Given the description of an element on the screen output the (x, y) to click on. 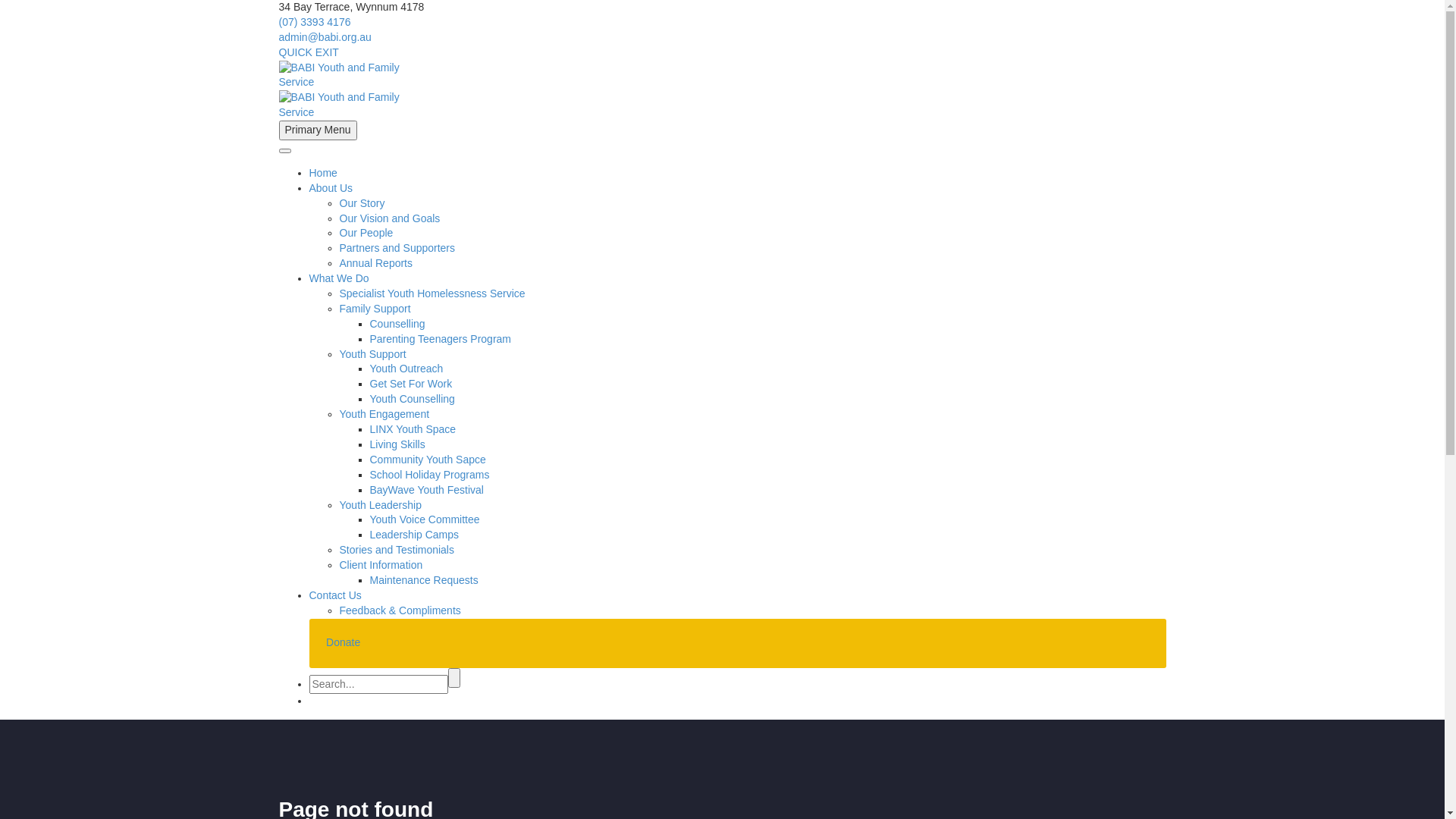
Family Support Element type: text (375, 308)
admin@babi.org.au Element type: text (325, 37)
Specialist Youth Homelessness Service Element type: text (432, 293)
Youth Counselling Element type: text (412, 398)
Annual Reports Element type: text (376, 263)
Donate Element type: text (343, 642)
Youth Support Element type: text (372, 354)
Partners and Supporters Element type: text (397, 247)
QUICK EXIT Element type: text (308, 52)
Maintenance Requests Element type: text (424, 580)
Youth Leadership Element type: text (380, 504)
Counselling Element type: text (397, 323)
Contact Us Element type: text (335, 595)
Home Element type: text (323, 172)
Our Vision and Goals Element type: text (389, 218)
School Holiday Programs Element type: text (429, 474)
Living Skills Element type: text (397, 444)
(07) 3393 4176 Element type: text (315, 21)
Client Information Element type: text (381, 564)
Parenting Teenagers Program Element type: text (440, 338)
Our People Element type: text (366, 232)
What We Do Element type: text (339, 278)
Youth Outreach Element type: text (406, 368)
About Us Element type: text (331, 188)
Get Set For Work Element type: text (411, 383)
Youth Voice Committee Element type: text (425, 519)
Community Youth Sapce Element type: text (428, 459)
BayWave Youth Festival Element type: text (426, 489)
LINX Youth Space Element type: text (413, 429)
Youth Engagement Element type: text (384, 413)
Feedback & Compliments Element type: text (400, 610)
Primary Menu Element type: text (318, 130)
Our Story Element type: text (362, 203)
Stories and Testimonials Element type: text (396, 549)
Leadership Camps Element type: text (414, 534)
